Given the description of an element on the screen output the (x, y) to click on. 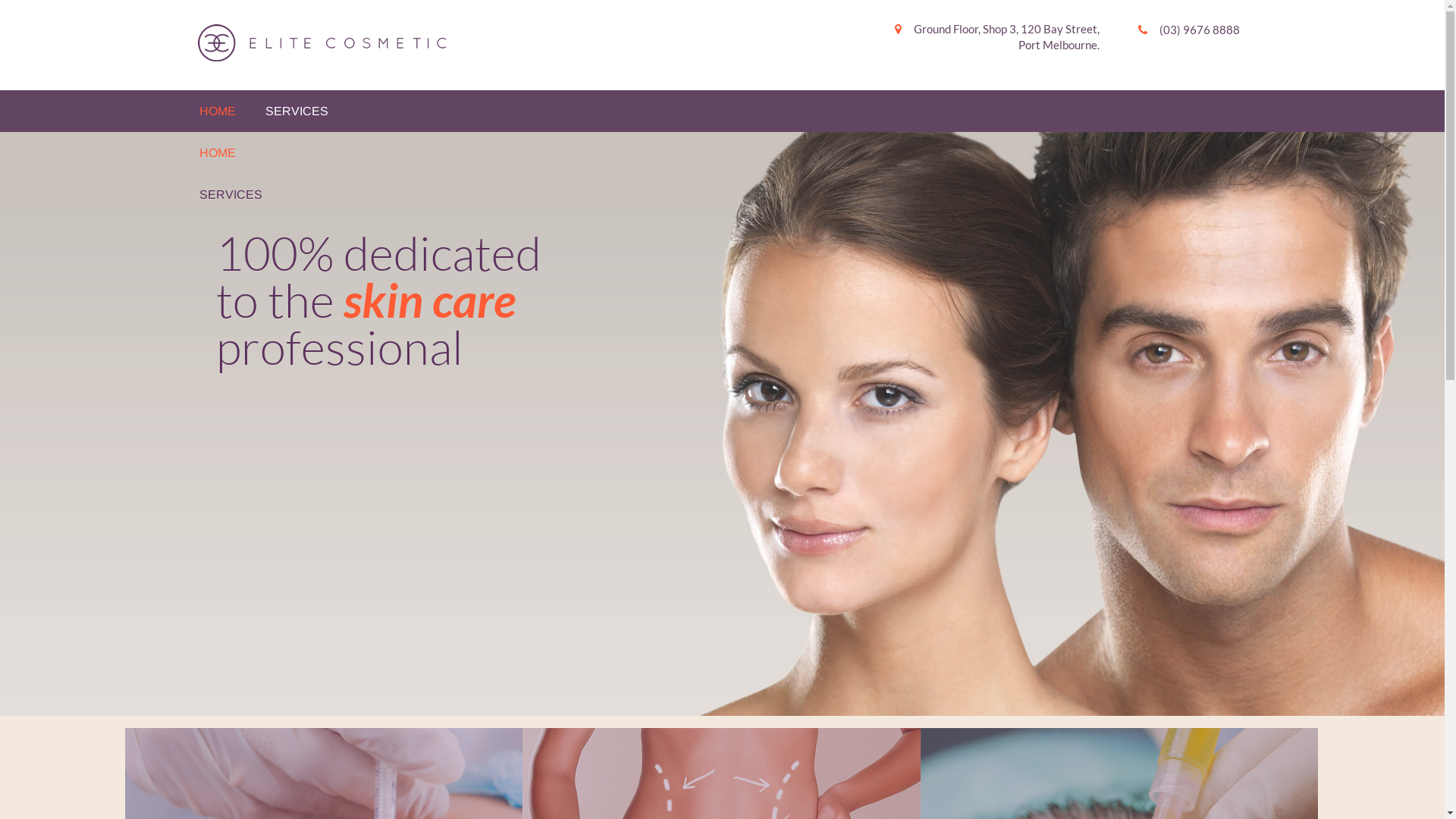
SERVICES Element type: text (296, 110)
(03) 9676 8888 Element type: text (1182, 29)
HOME Element type: text (607, 152)
HOME Element type: text (216, 110)
SERVICES Element type: text (607, 194)
Ground Floor, Shop 3, 120 Bay Street,
Port Melbourne. Element type: text (991, 37)
